Given the description of an element on the screen output the (x, y) to click on. 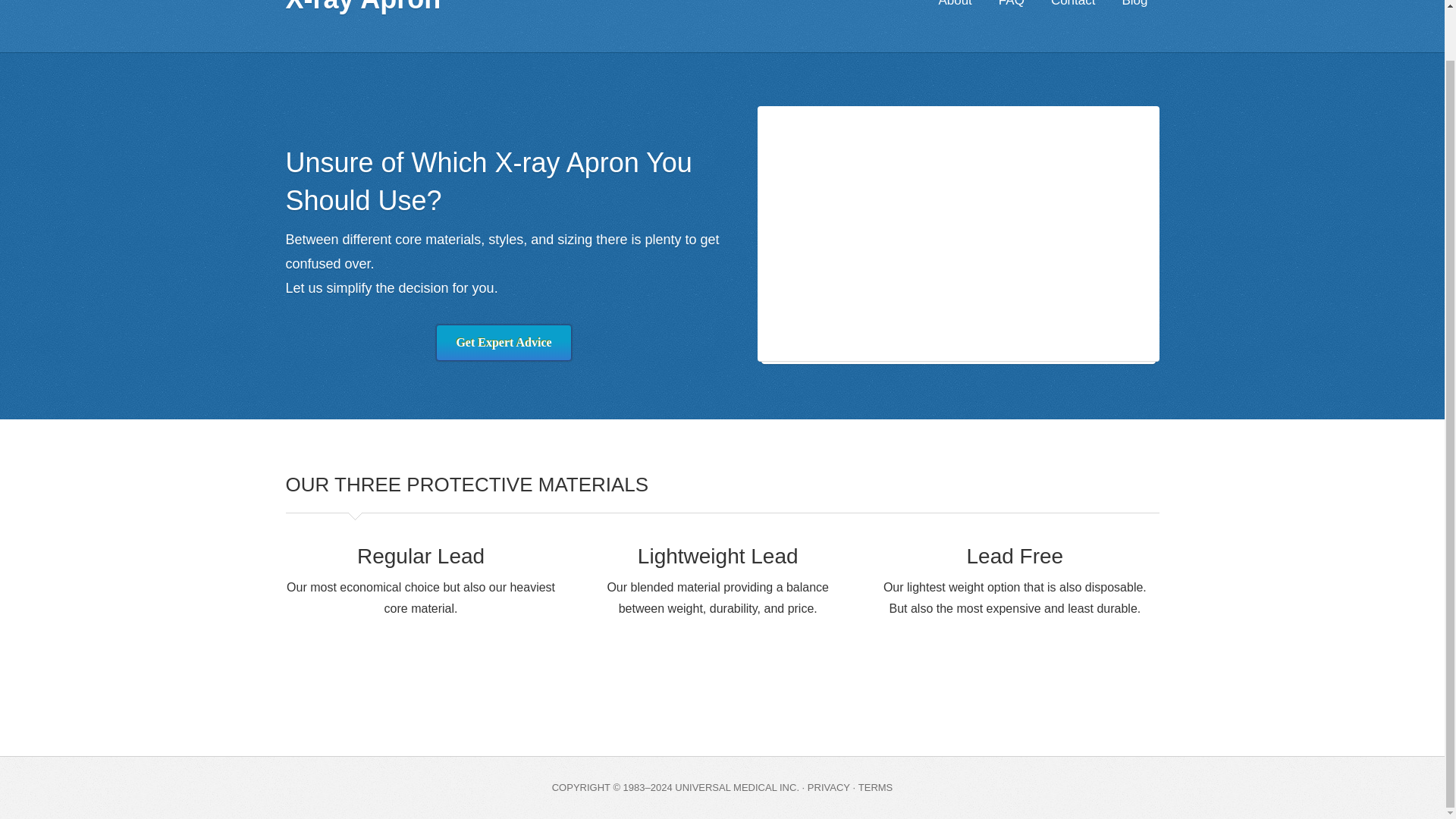
FAQ (1011, 7)
PRIVACY (829, 787)
About (954, 7)
Blog (1133, 7)
X-ray Apron (363, 7)
Contact (1072, 7)
TERMS (876, 787)
Get Expert Advice (502, 342)
